Given the description of an element on the screen output the (x, y) to click on. 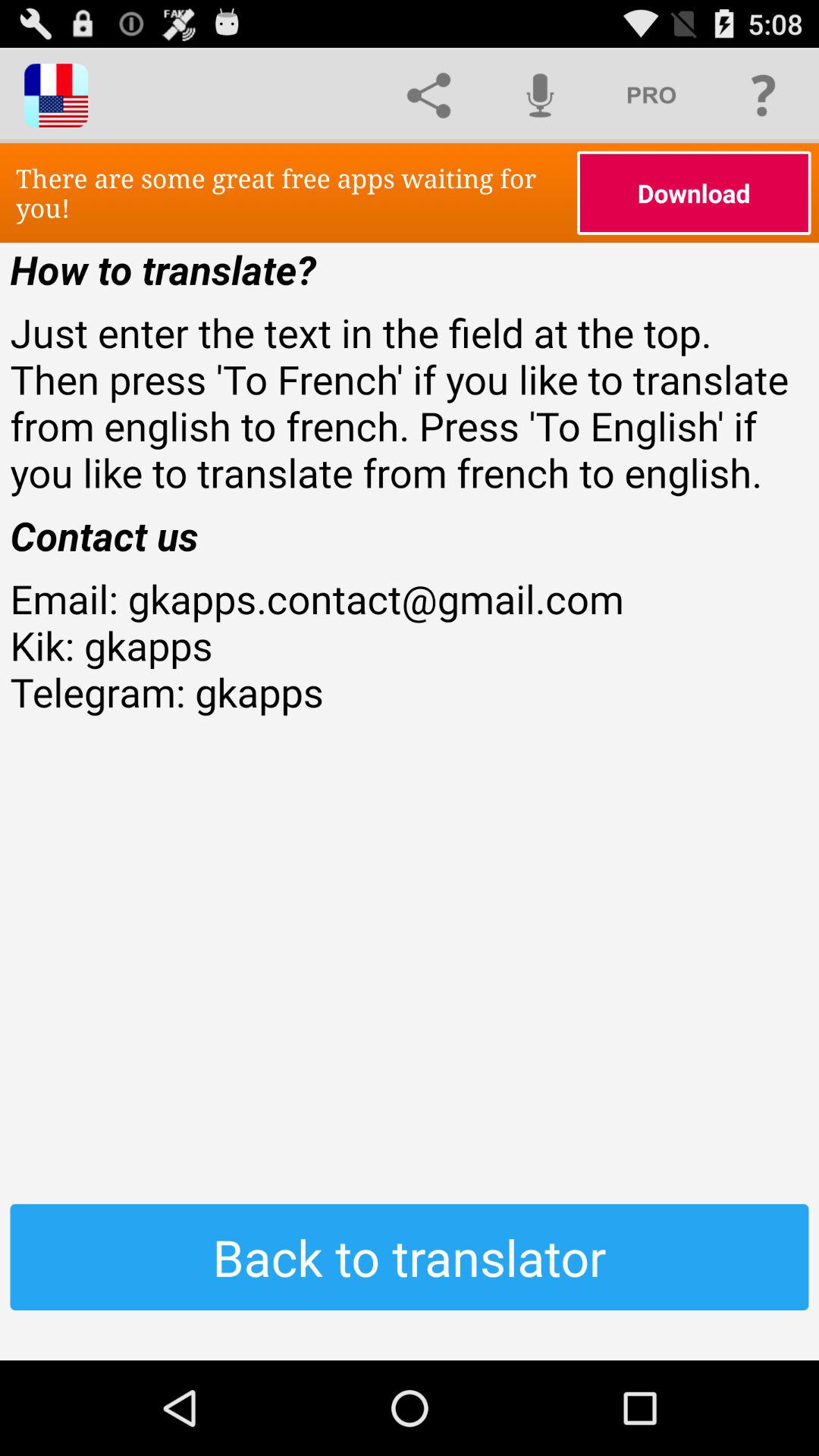
click the item above the download item (763, 95)
